Given the description of an element on the screen output the (x, y) to click on. 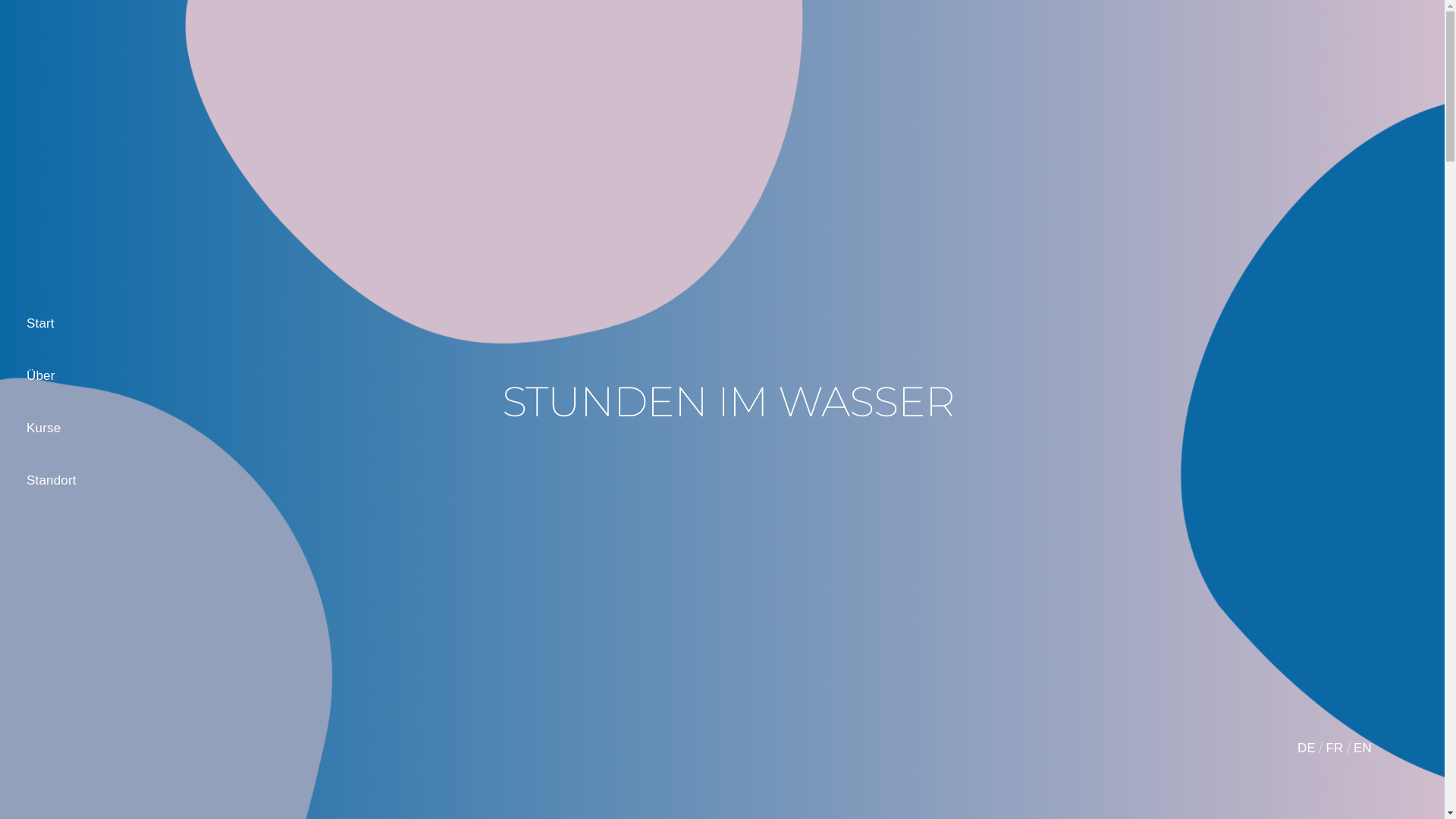
Kurse Element type: text (51, 427)
FR Element type: text (1334, 747)
EN Element type: text (1362, 747)
Standort Element type: text (51, 480)
Start Element type: text (51, 323)
DE Element type: text (1306, 747)
